Given the description of an element on the screen output the (x, y) to click on. 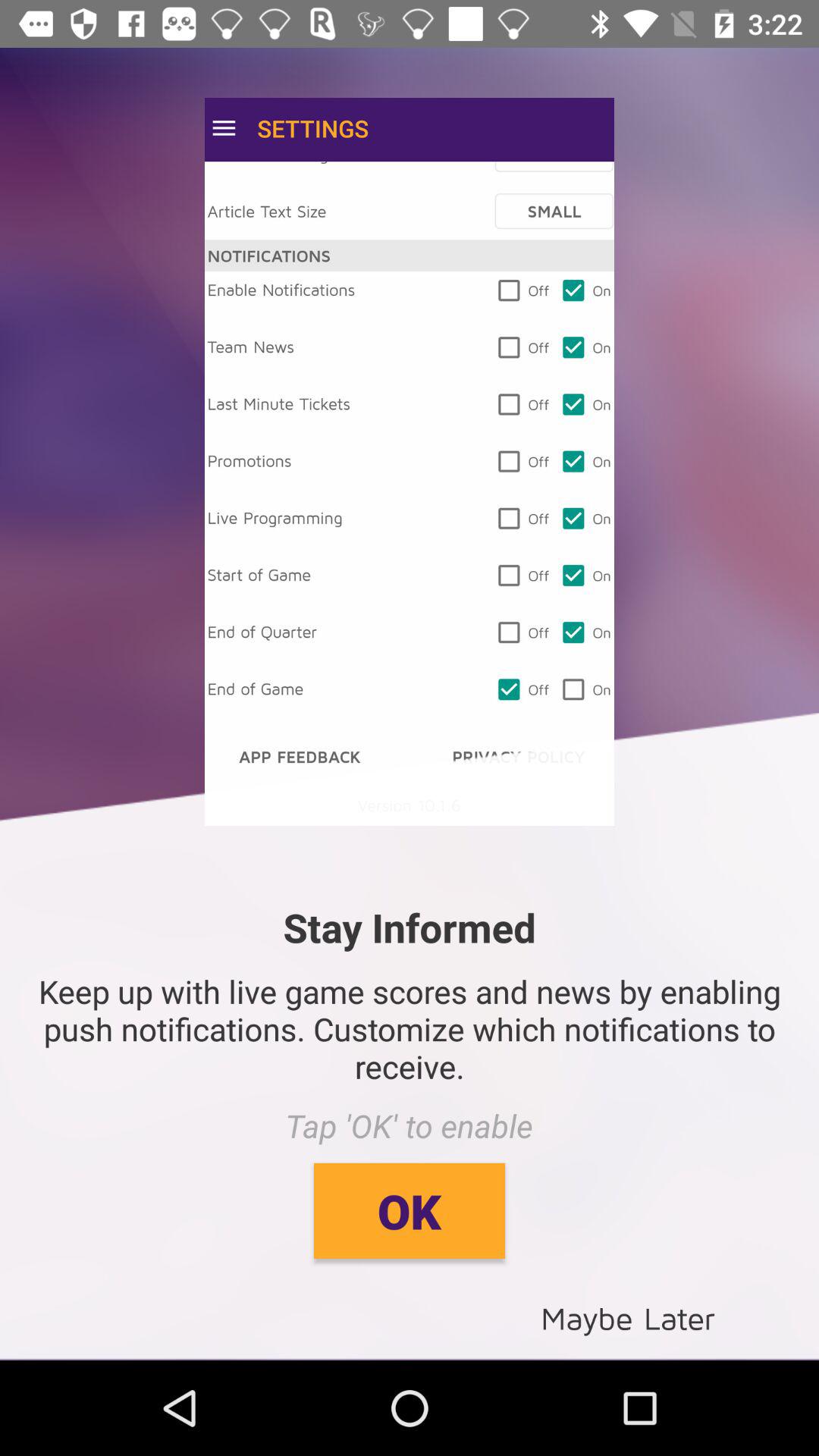
open maybe later (627, 1317)
